Given the description of an element on the screen output the (x, y) to click on. 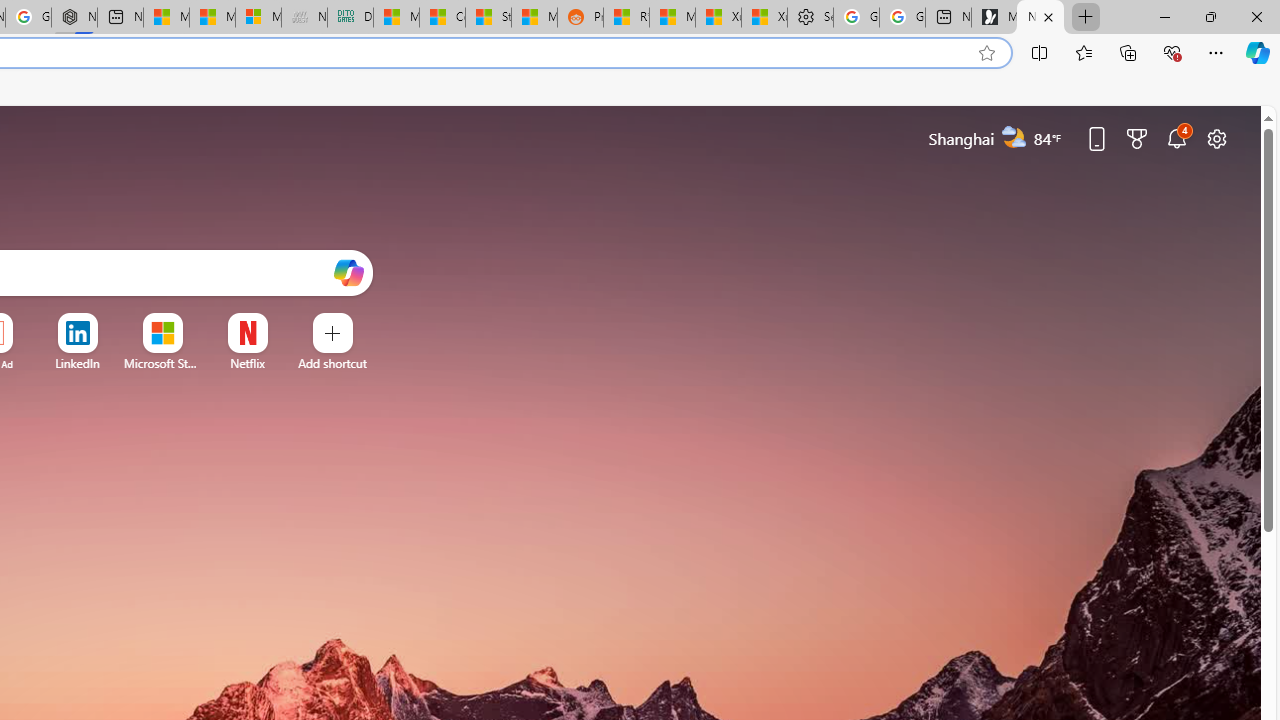
Netflix (247, 363)
